Given the description of an element on the screen output the (x, y) to click on. 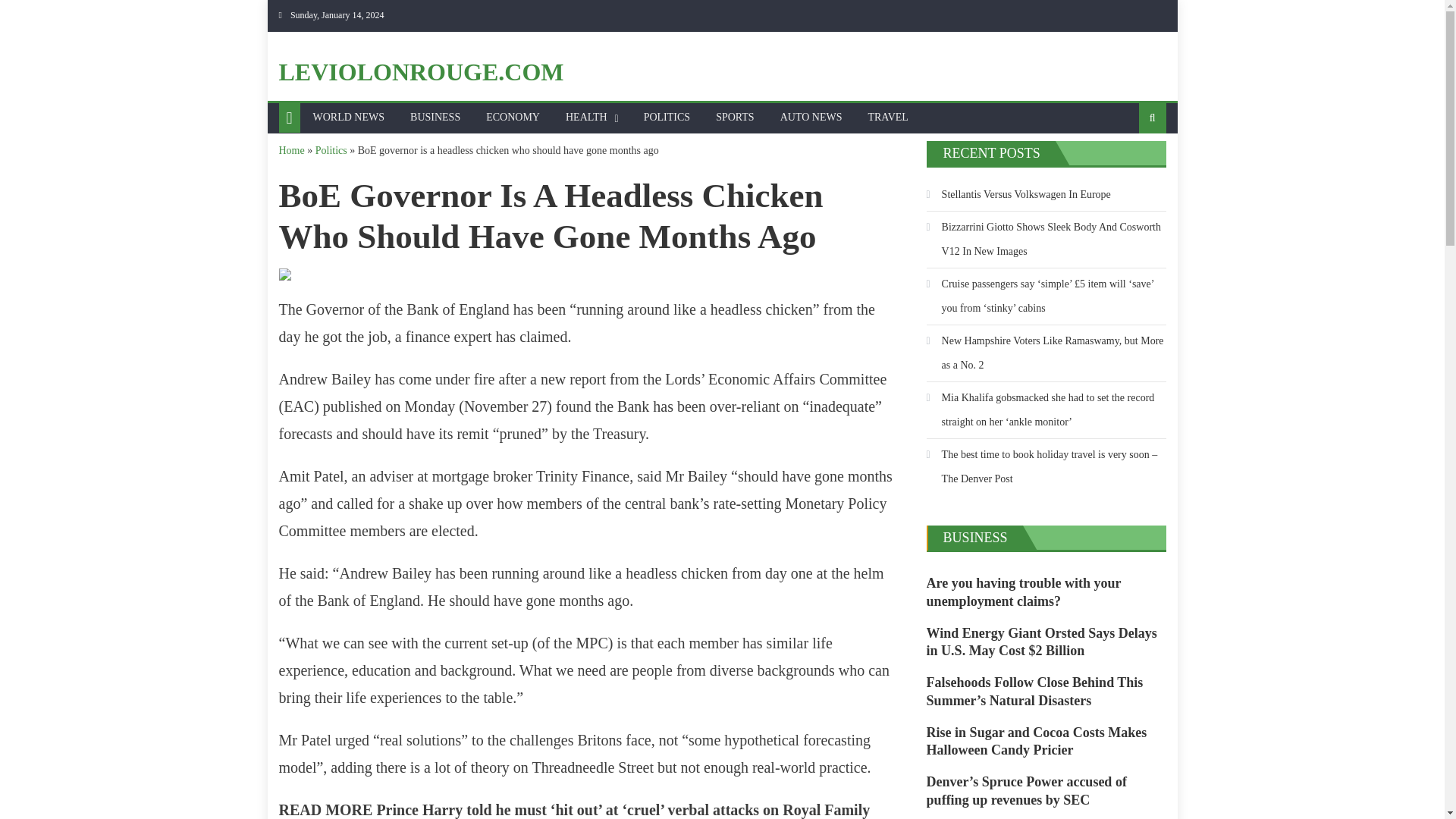
Search (1128, 166)
LEVIOLONROUGE.COM (421, 71)
New Hampshire Voters Like Ramaswamy, but More as a No. 2 (1046, 353)
Stellantis Versus Volkswagen In Europe (1018, 194)
BUSINESS (975, 537)
HEALTH (586, 117)
WORLD NEWS (348, 117)
Home (291, 150)
Are you having trouble with your unemployment claims? (1046, 592)
